Given the description of an element on the screen output the (x, y) to click on. 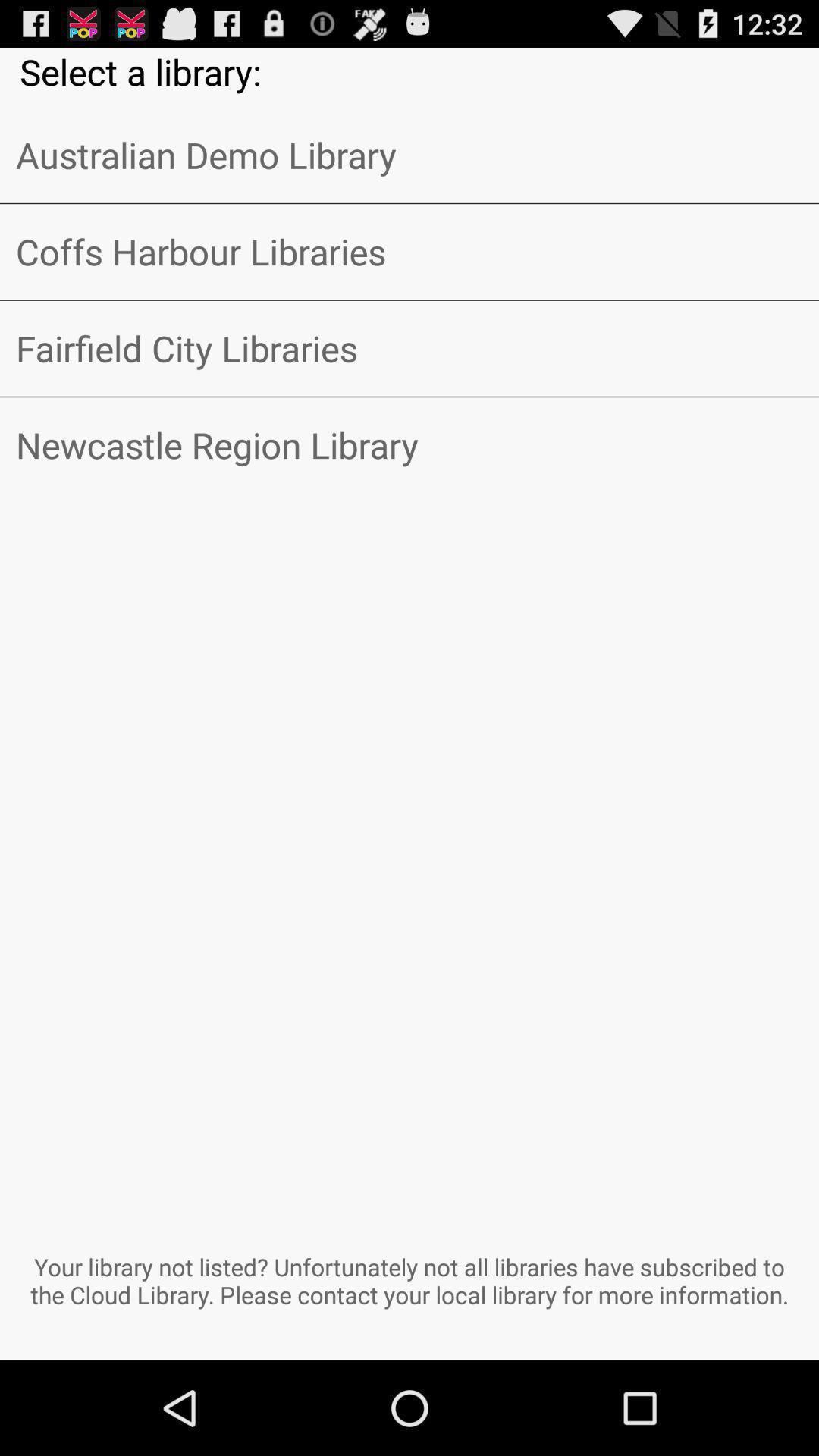
launch the coffs harbour libraries app (409, 251)
